Given the description of an element on the screen output the (x, y) to click on. 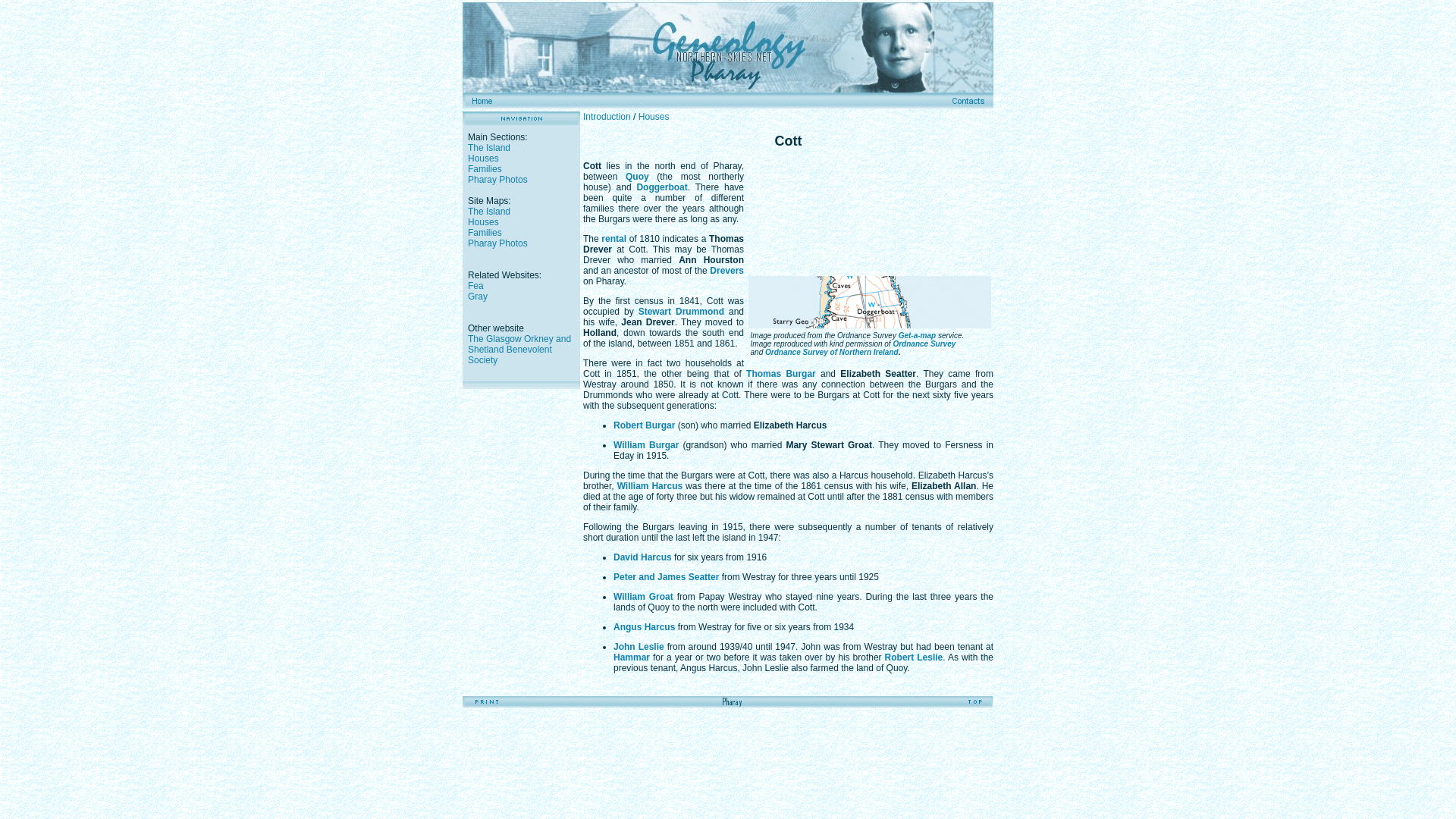
rental (613, 238)
Robert Leslie (914, 656)
Pharay Photos (497, 243)
Hammar (630, 656)
John Leslie (637, 646)
Angus Harcus (643, 626)
Houses (483, 222)
Stewart Drummond (681, 311)
Peter and James Seatter (665, 576)
The Glasgow Orkney and Shetland Benevolent Society (518, 349)
